Given the description of an element on the screen output the (x, y) to click on. 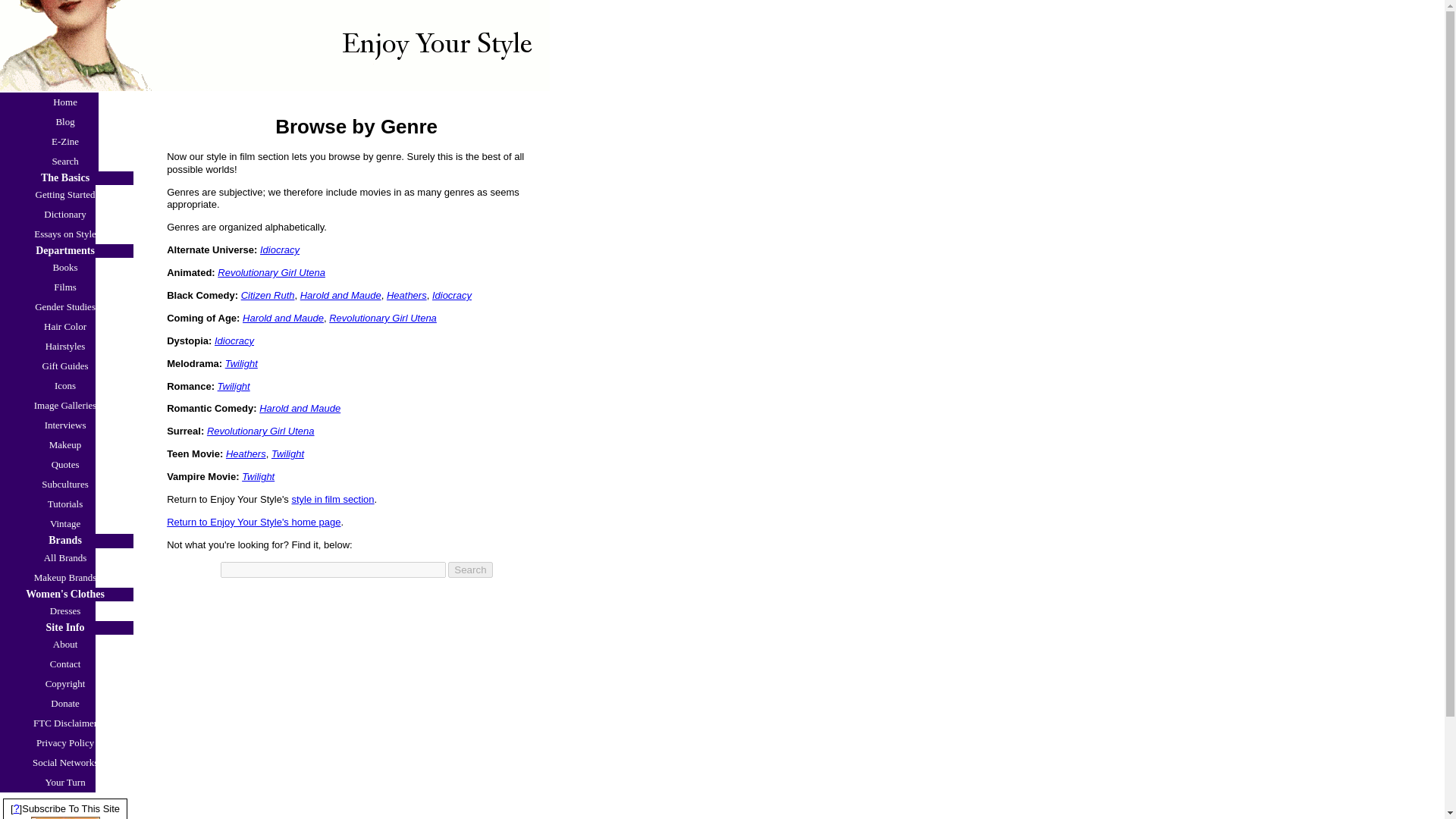
Idiocracy (279, 249)
Blog (65, 121)
Image Galleries (66, 405)
Makeup Brands (66, 578)
Films (66, 287)
Subcultures (66, 484)
Essays on Style (66, 234)
Gender Studies (66, 306)
Privacy Policy (66, 742)
Home (65, 102)
